Given the description of an element on the screen output the (x, y) to click on. 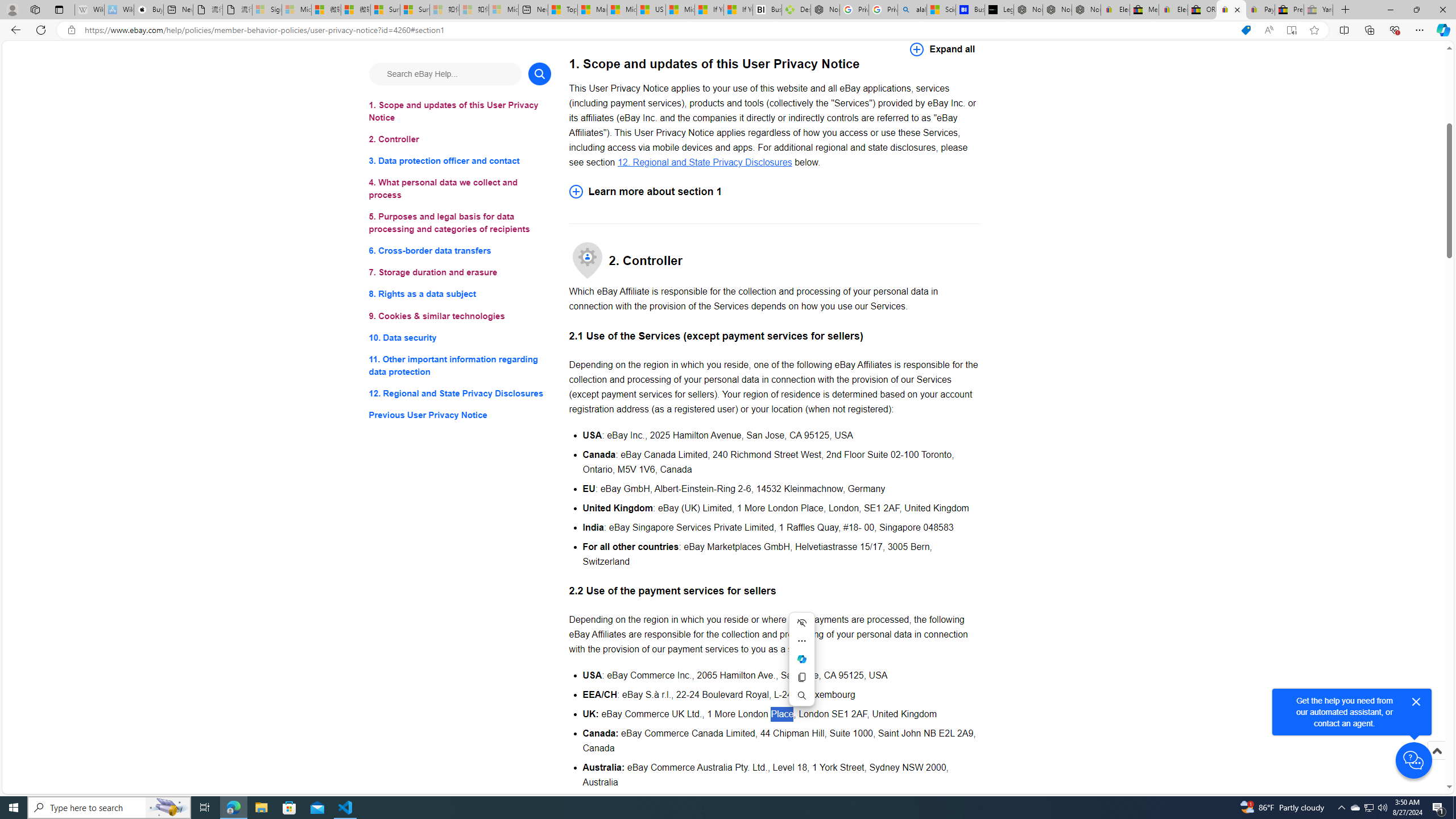
2. Controller (459, 138)
This site has coupons! Shopping in Microsoft Edge (1245, 29)
10. Data security (459, 336)
Mini menu on text selection (802, 665)
11. Other important information regarding data protection (459, 365)
Hide menu (801, 622)
Descarga Driver Updater (796, 9)
4. What personal data we collect and process (459, 189)
Wikipedia - Sleeping (89, 9)
